Given the description of an element on the screen output the (x, y) to click on. 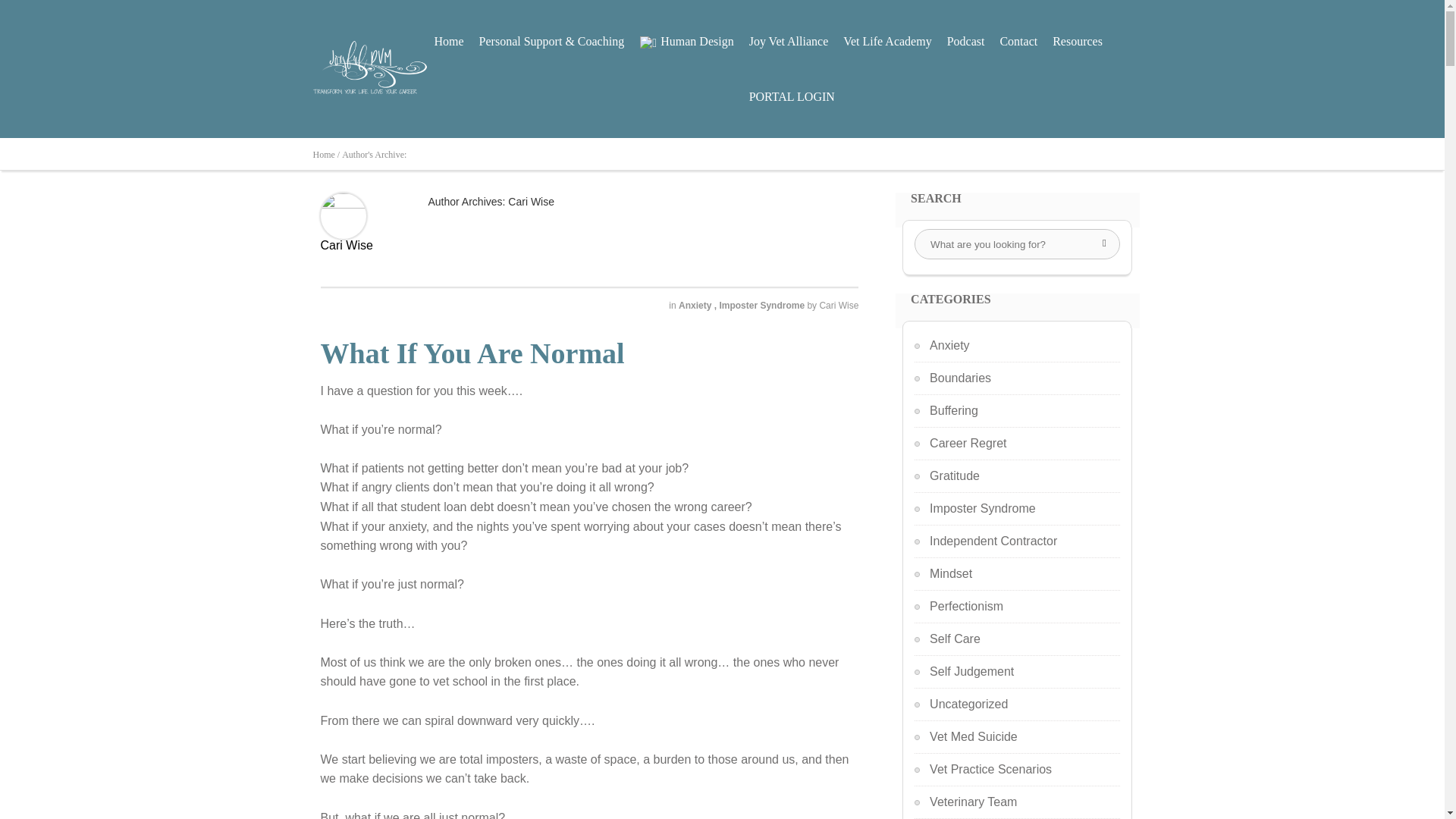
Cari Wise (838, 305)
PORTAL LOGIN (792, 96)
Contact (1018, 41)
Anxiety (696, 305)
Home (448, 41)
Podcast (965, 41)
What If You Are Normal (472, 353)
Vet Life Academy (887, 41)
Joy Vet Alliance (788, 41)
Resources (1077, 41)
Imposter Syndrome (762, 305)
Human Design (686, 41)
